Given the description of an element on the screen output the (x, y) to click on. 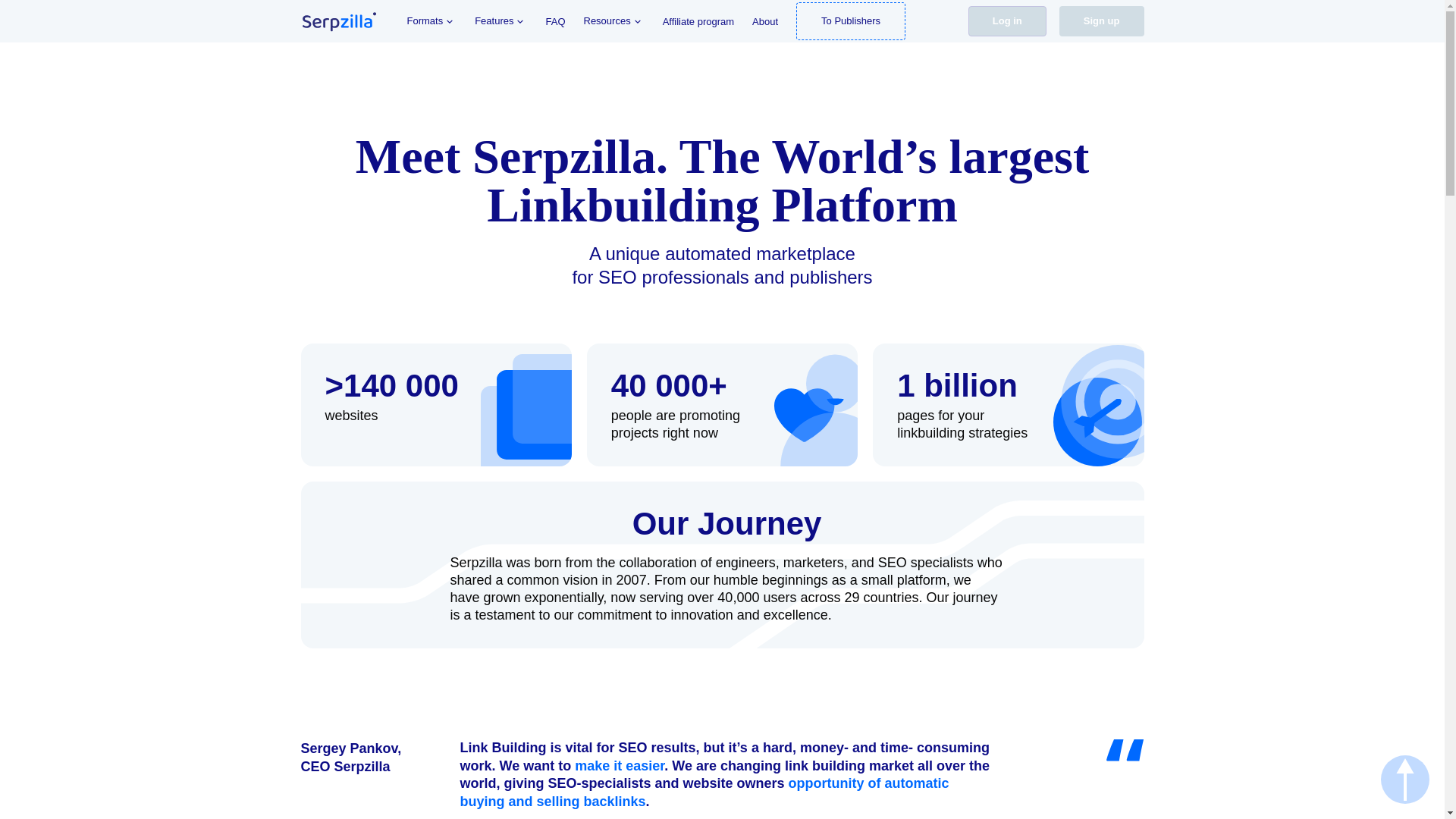
To Publishers (850, 21)
Sign up (1101, 20)
FAQ (554, 20)
Log in (1007, 20)
Affiliate program (697, 20)
About (764, 20)
